Given the description of an element on the screen output the (x, y) to click on. 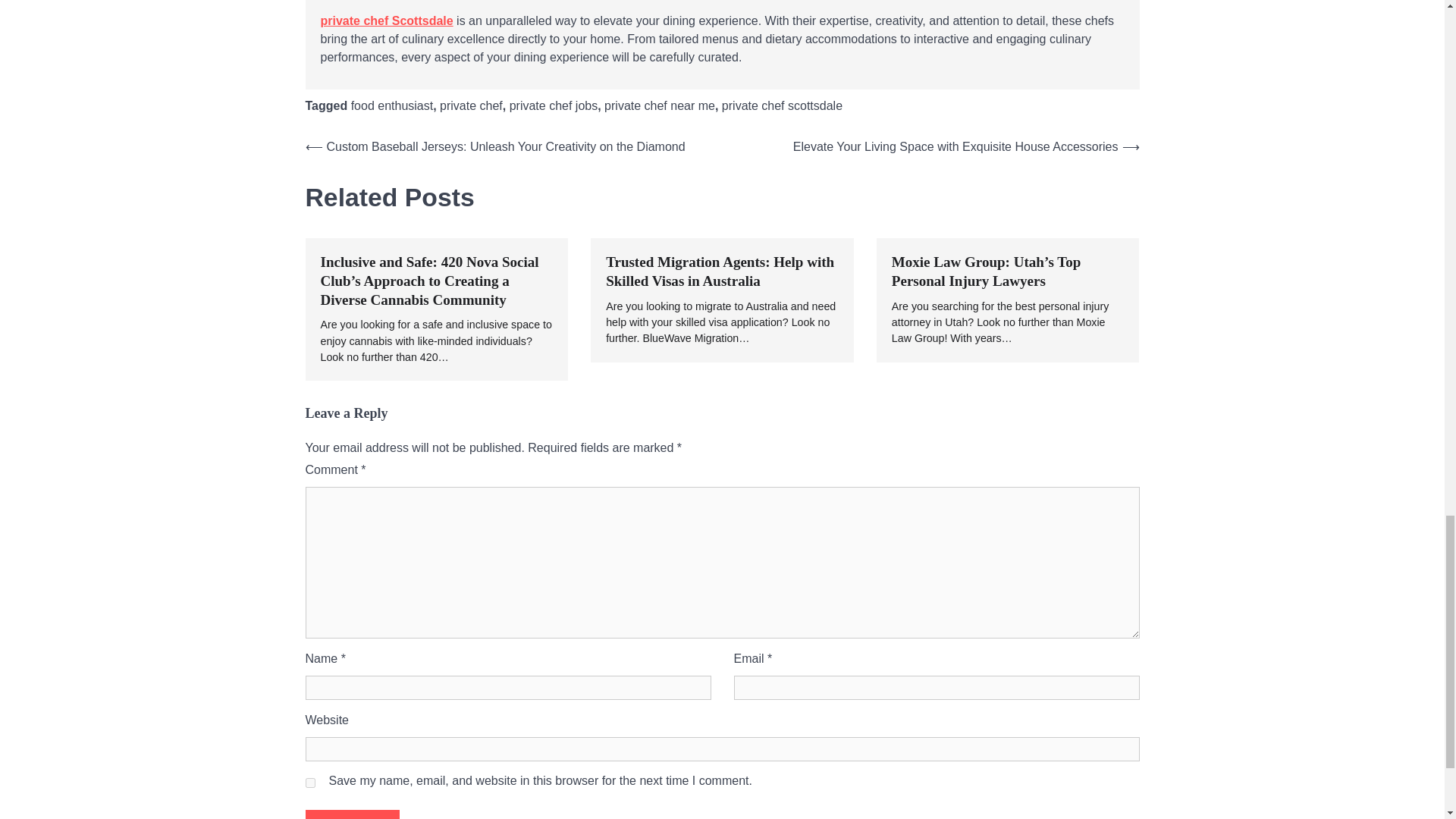
Post Comment (351, 814)
private chef jobs (553, 105)
private chef (470, 105)
Post Comment (351, 814)
private chef Scottsdale (386, 20)
yes (309, 782)
food enthusiast (391, 105)
private chef scottsdale (782, 105)
private chef near me (659, 105)
